Given the description of an element on the screen output the (x, y) to click on. 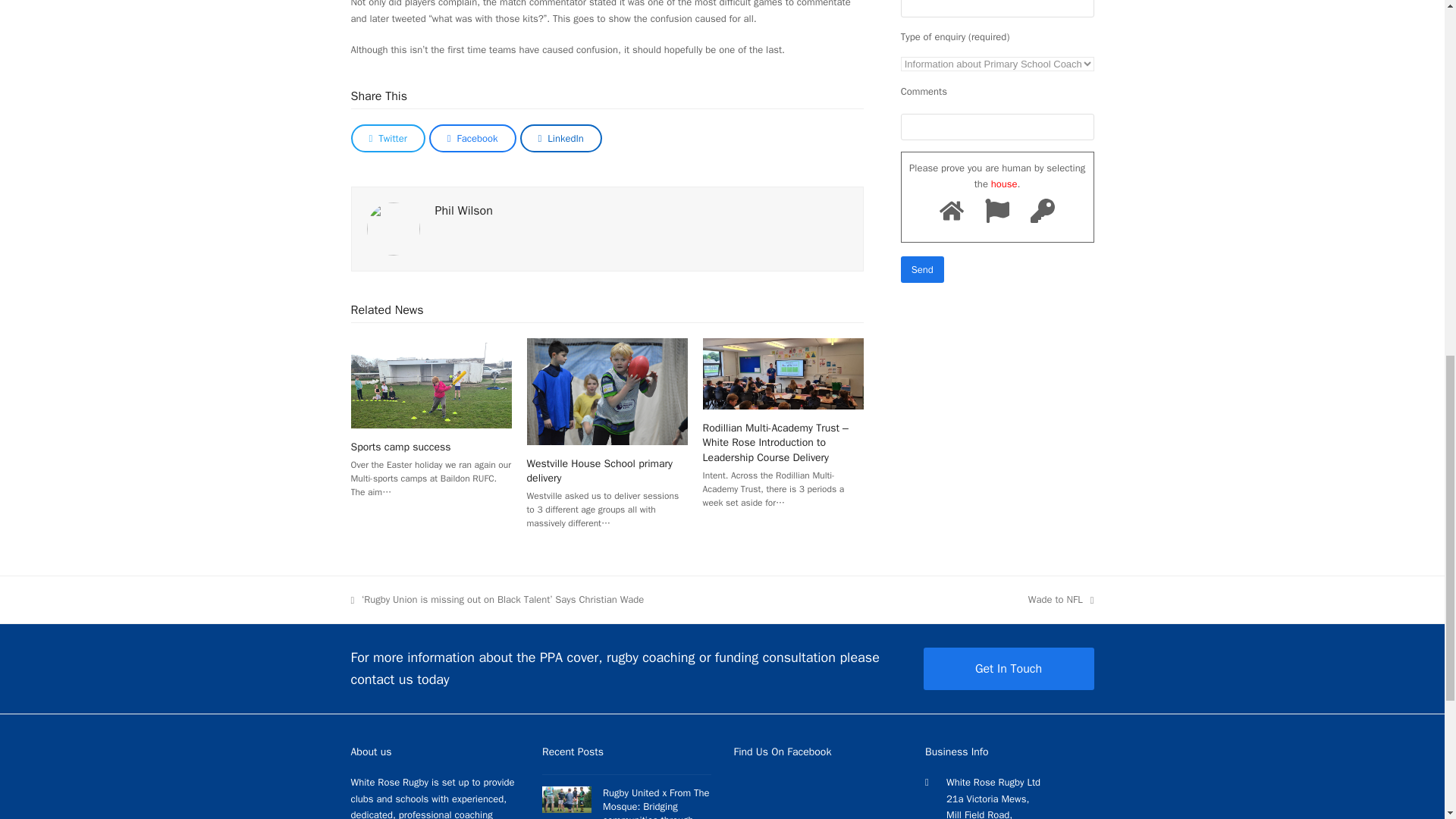
Send (922, 269)
Westville House School primary delivery (607, 390)
Sports camp success (430, 382)
Visit Author Page (464, 210)
Visit Author Page (393, 227)
